Given the description of an element on the screen output the (x, y) to click on. 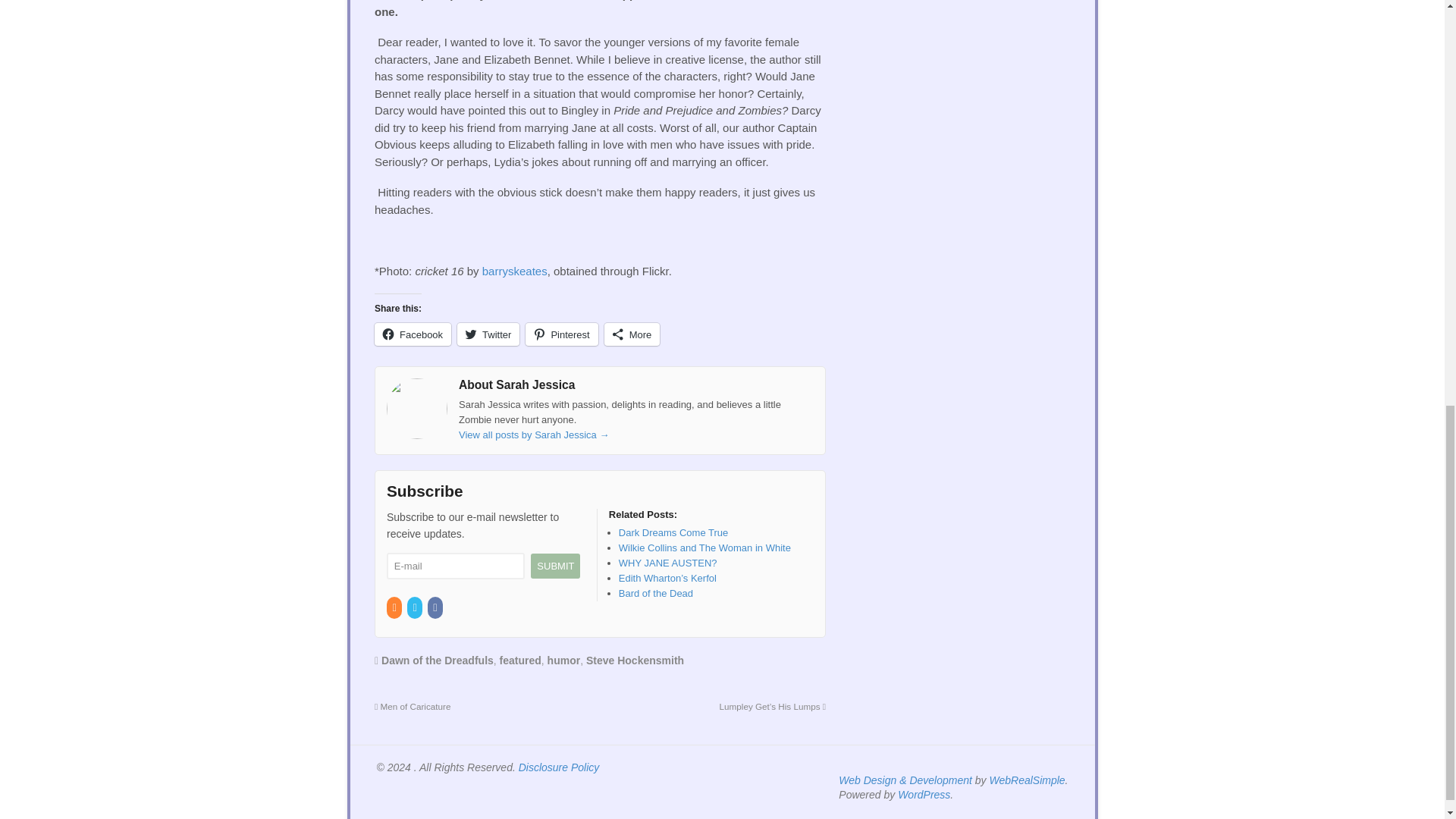
Facebook (436, 607)
Dark Dreams Come True (673, 532)
More (632, 333)
Submit (555, 565)
Click to share on Pinterest (560, 333)
E-mail (455, 565)
barryskeates (514, 270)
Facebook (412, 333)
Twitter (488, 333)
Click to share on Facebook (412, 333)
